Given the description of an element on the screen output the (x, y) to click on. 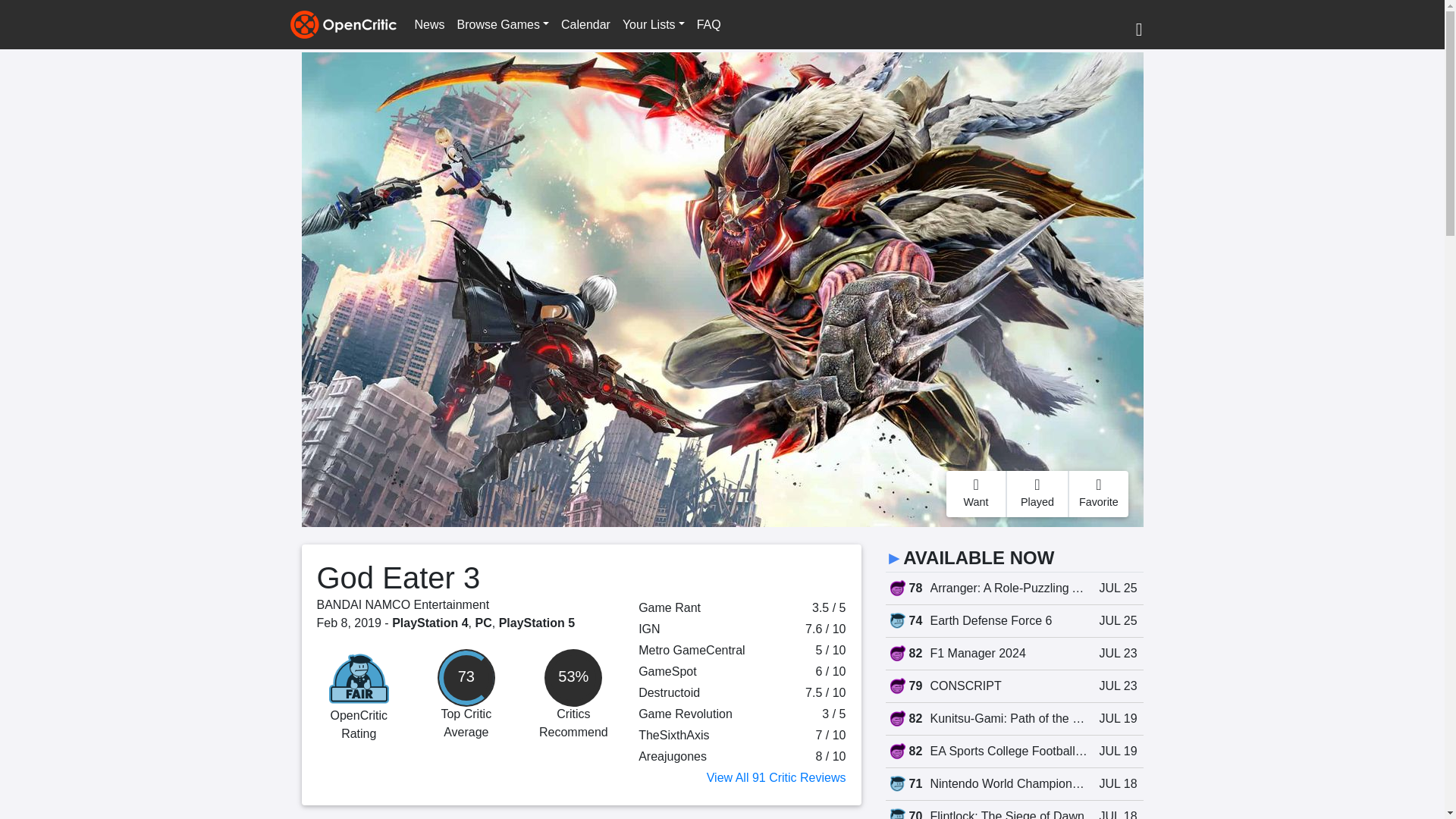
FAQ (708, 24)
Your Lists (652, 24)
Calendar (584, 24)
News (428, 24)
Browse Games (502, 24)
View All 91 Critic Reviews (775, 777)
